Given the description of an element on the screen output the (x, y) to click on. 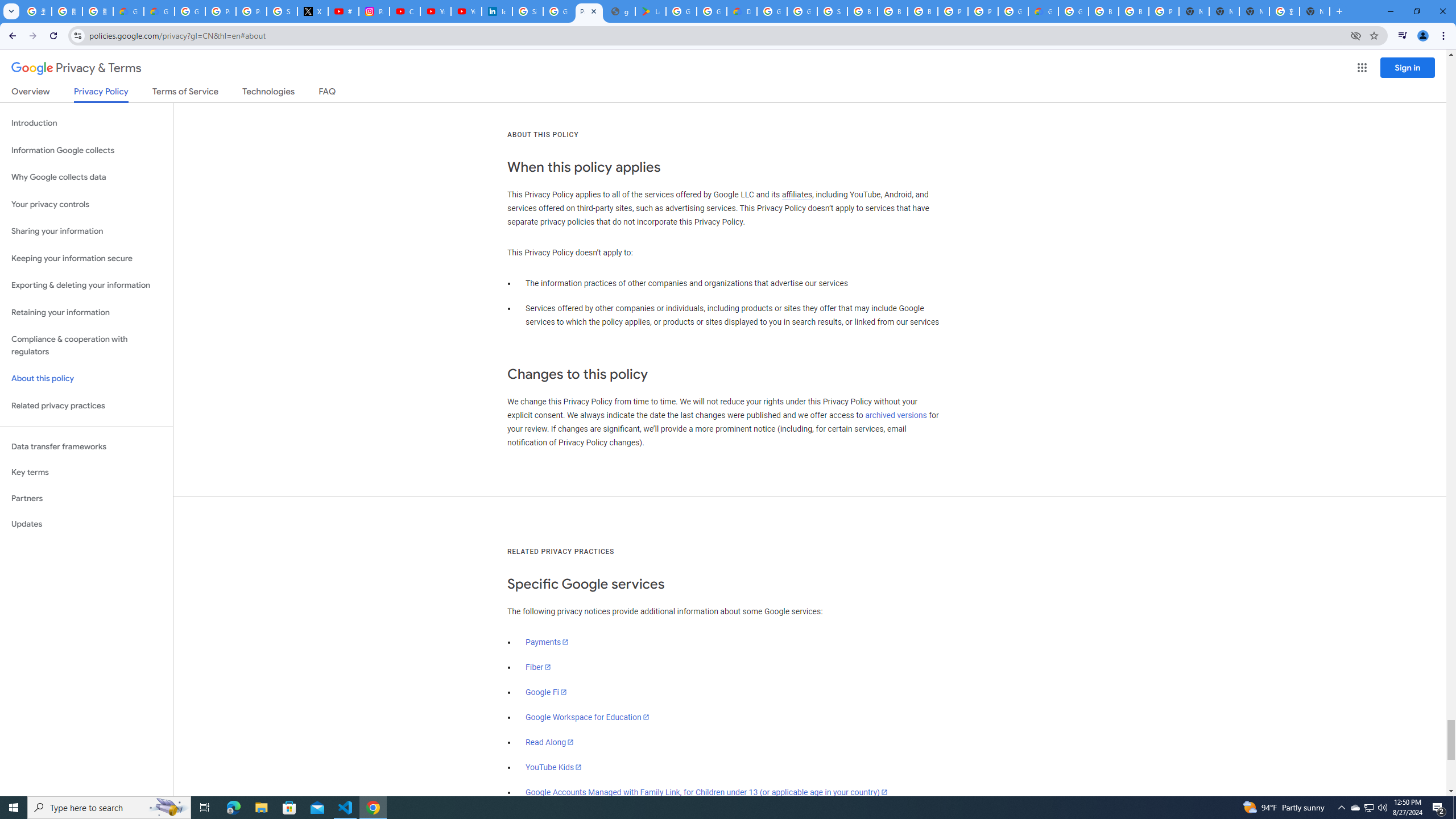
Google Cloud Privacy Notice (158, 11)
Partners (86, 497)
Fiber (538, 666)
Sign in - Google Accounts (527, 11)
Browse Chrome as a guest - Computer - Google Chrome Help (1103, 11)
Browse Chrome as a guest - Computer - Google Chrome Help (1133, 11)
affiliates (796, 194)
Browse Chrome as a guest - Computer - Google Chrome Help (892, 11)
Updates (86, 524)
Why Google collects data (86, 176)
New Tab (1314, 11)
